Given the description of an element on the screen output the (x, y) to click on. 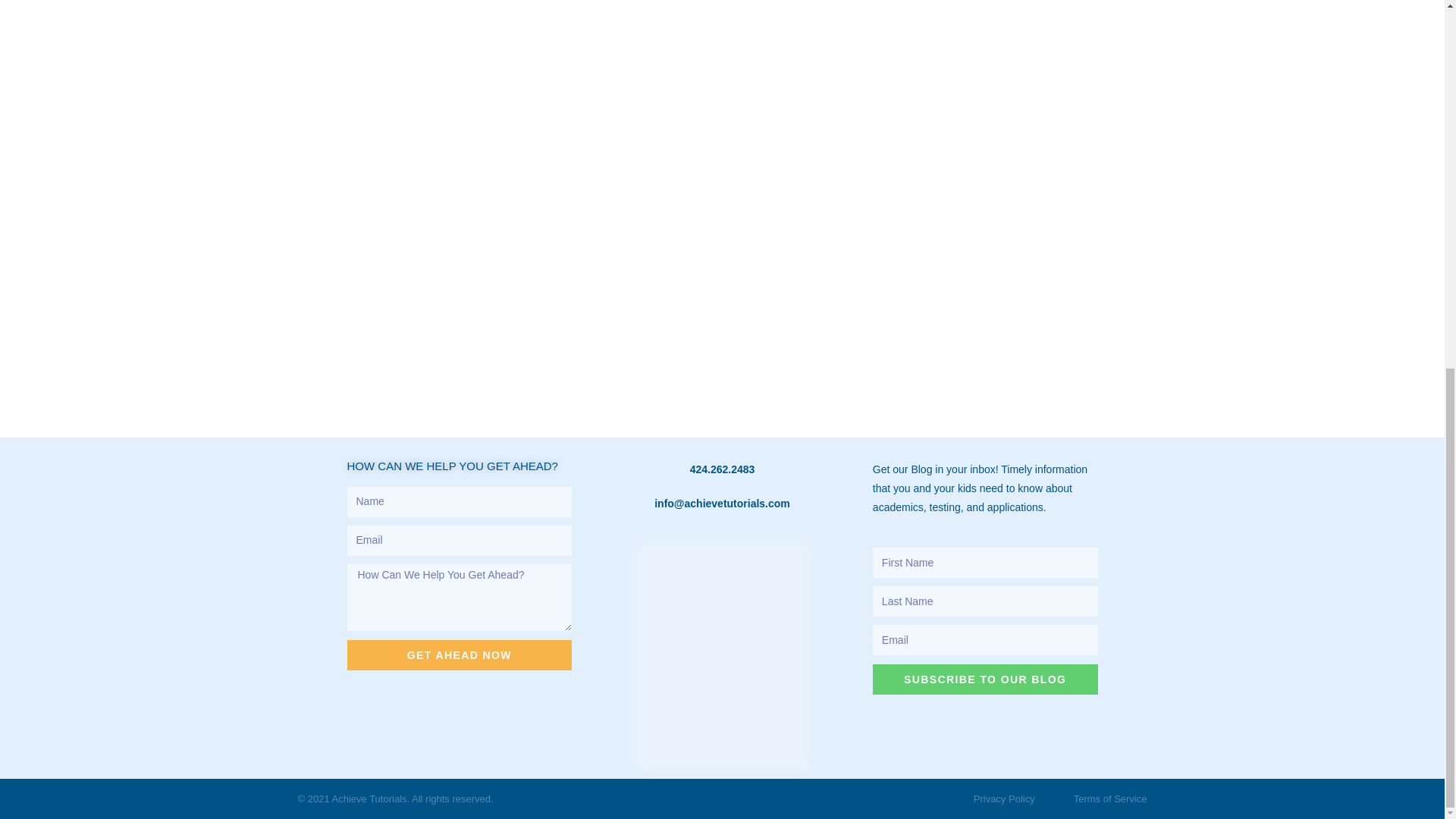
GET AHEAD NOW (459, 654)
Terms of Service (1110, 798)
Privacy Policy (1004, 798)
SUBSCRIBE TO OUR BLOG (984, 679)
